Given the description of an element on the screen output the (x, y) to click on. 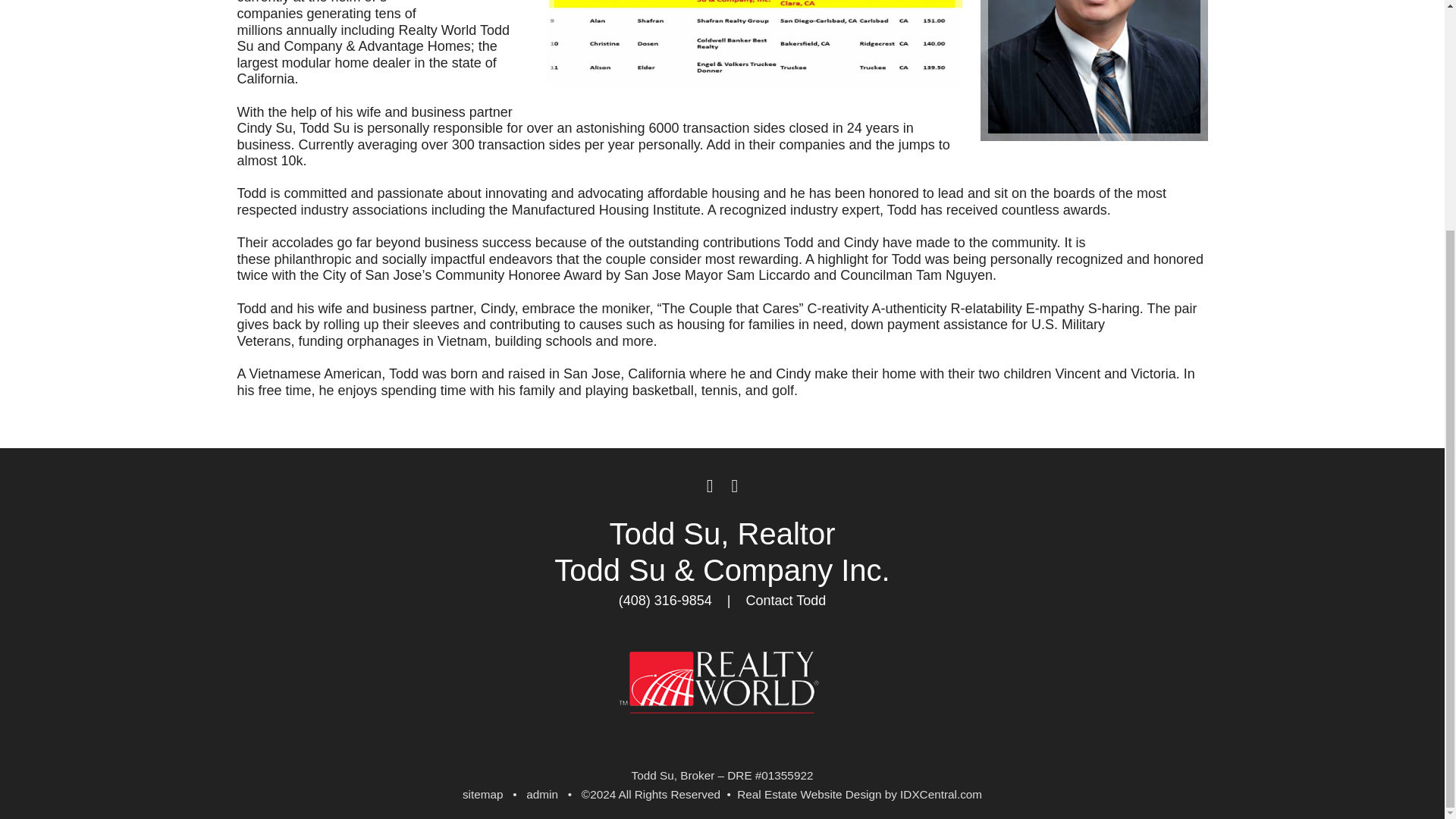
admin (541, 793)
sitemap (483, 793)
Contact Todd (786, 600)
Real Estate Website Design (808, 793)
Real Estate Website Design (808, 793)
